Given the description of an element on the screen output the (x, y) to click on. 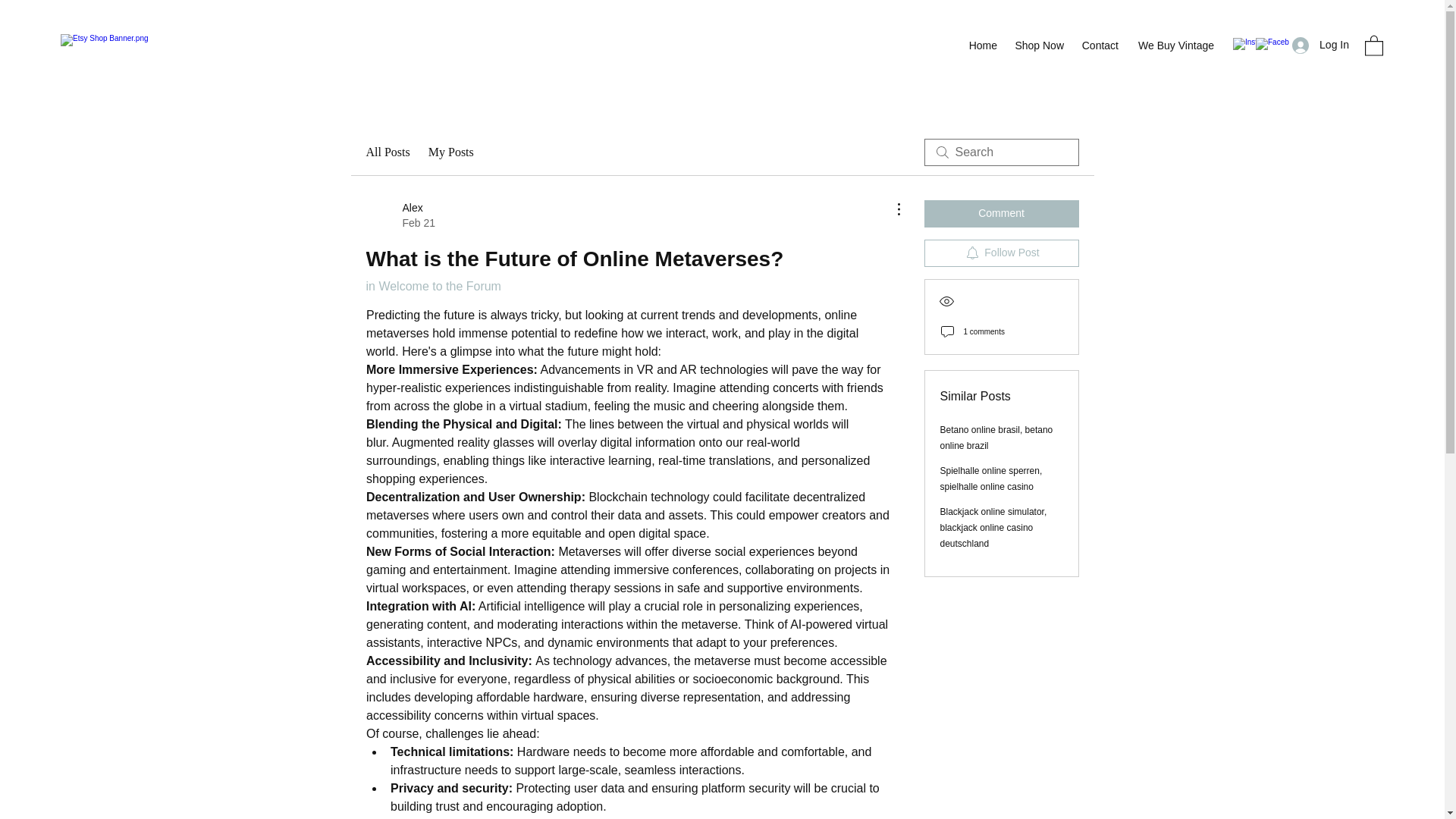
Spielhalle online sperren, spielhalle online casino (991, 479)
Log In (1320, 44)
in Welcome to the Forum (432, 286)
Comment (1000, 213)
Contact (1098, 45)
Shop Now (1037, 45)
Follow Post (1000, 252)
Home (981, 45)
Betano online brasil, betano online brazil (996, 438)
